Given the description of an element on the screen output the (x, y) to click on. 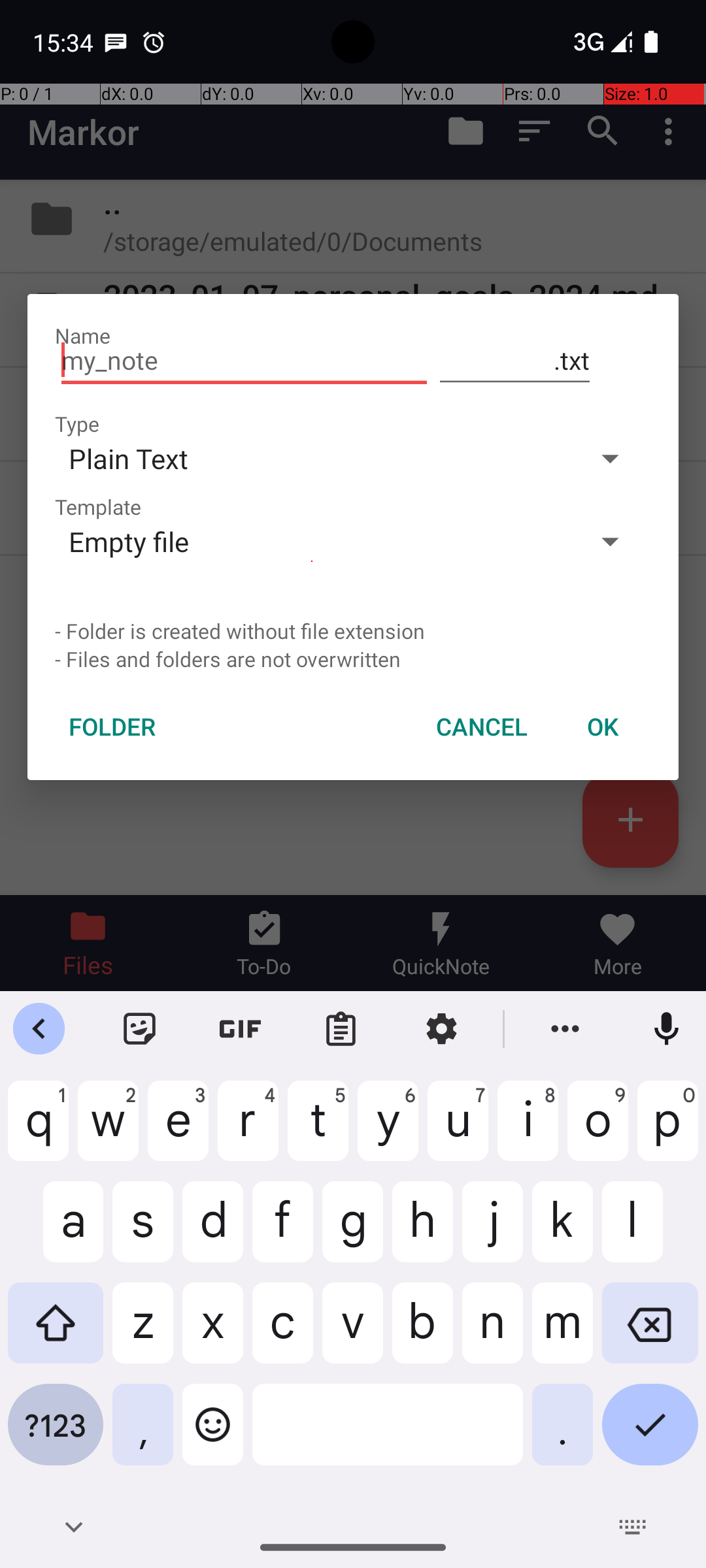
.txt Element type: android.widget.EditText (514, 360)
